Given the description of an element on the screen output the (x, y) to click on. 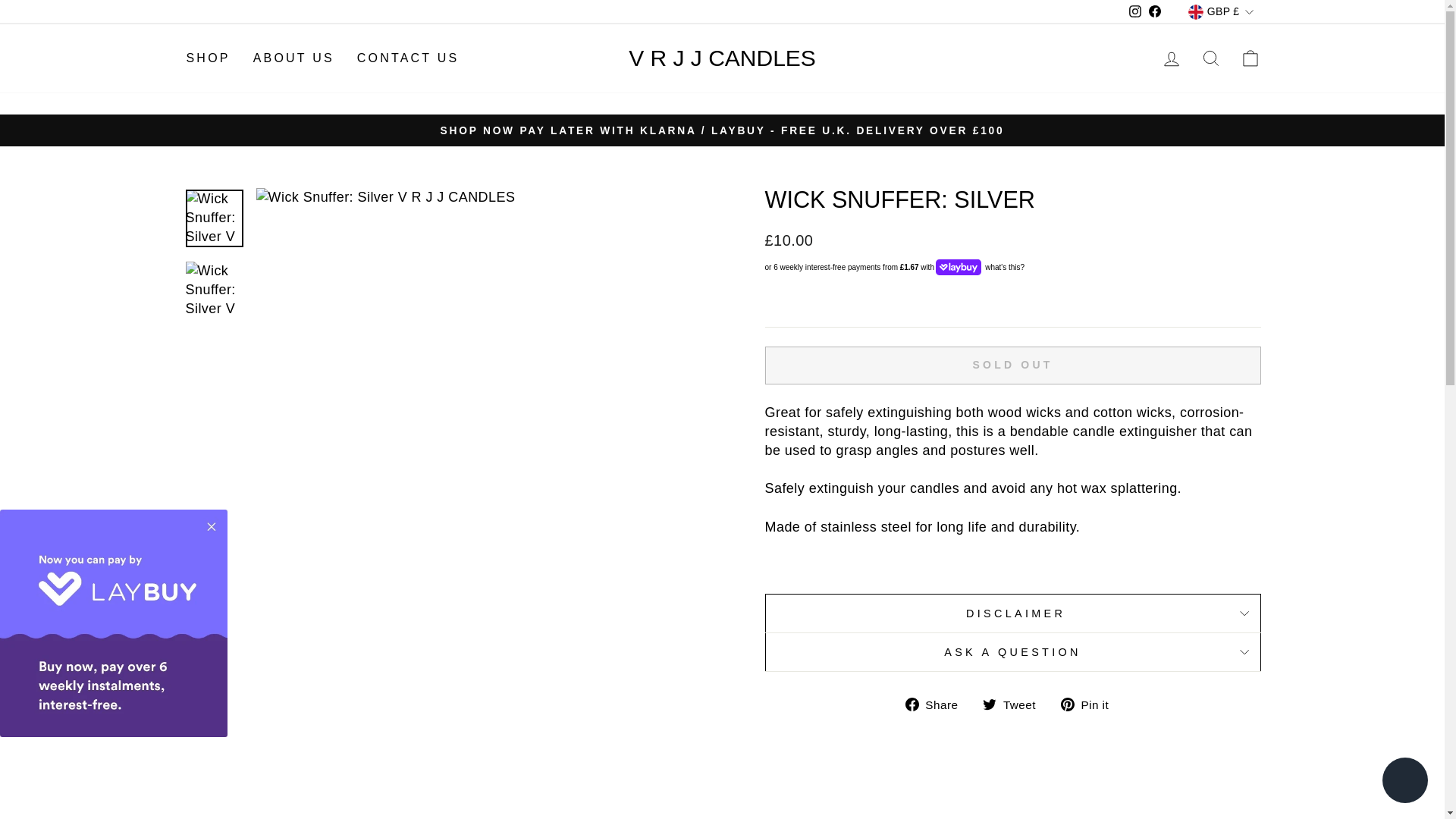
Pin on Pinterest (1090, 703)
Share on Facebook (937, 703)
Tweet on Twitter (1014, 703)
Shopify online store chat (1404, 781)
SHOP (207, 58)
